Given the description of an element on the screen output the (x, y) to click on. 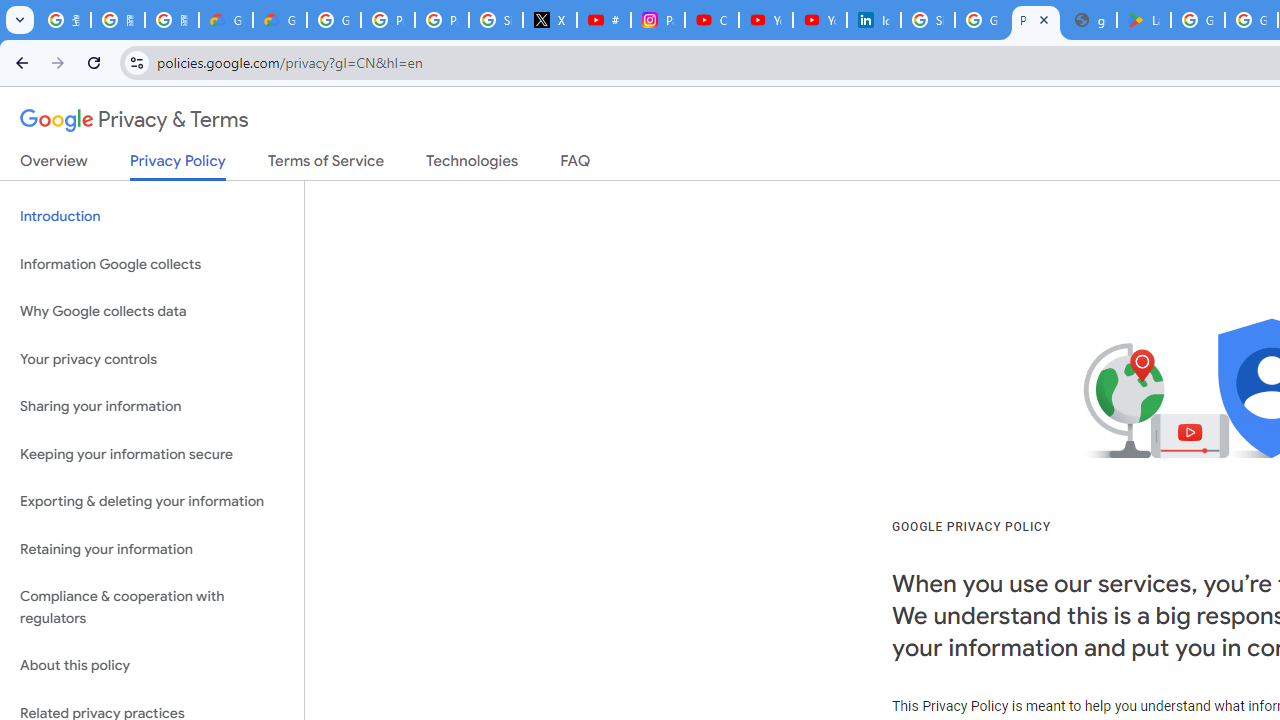
Last Shelter: Survival - Apps on Google Play (1144, 20)
Privacy Help Center - Policies Help (441, 20)
About this policy (152, 666)
Retaining your information (152, 548)
Why Google collects data (152, 312)
Privacy Help Center - Policies Help (387, 20)
